Given the description of an element on the screen output the (x, y) to click on. 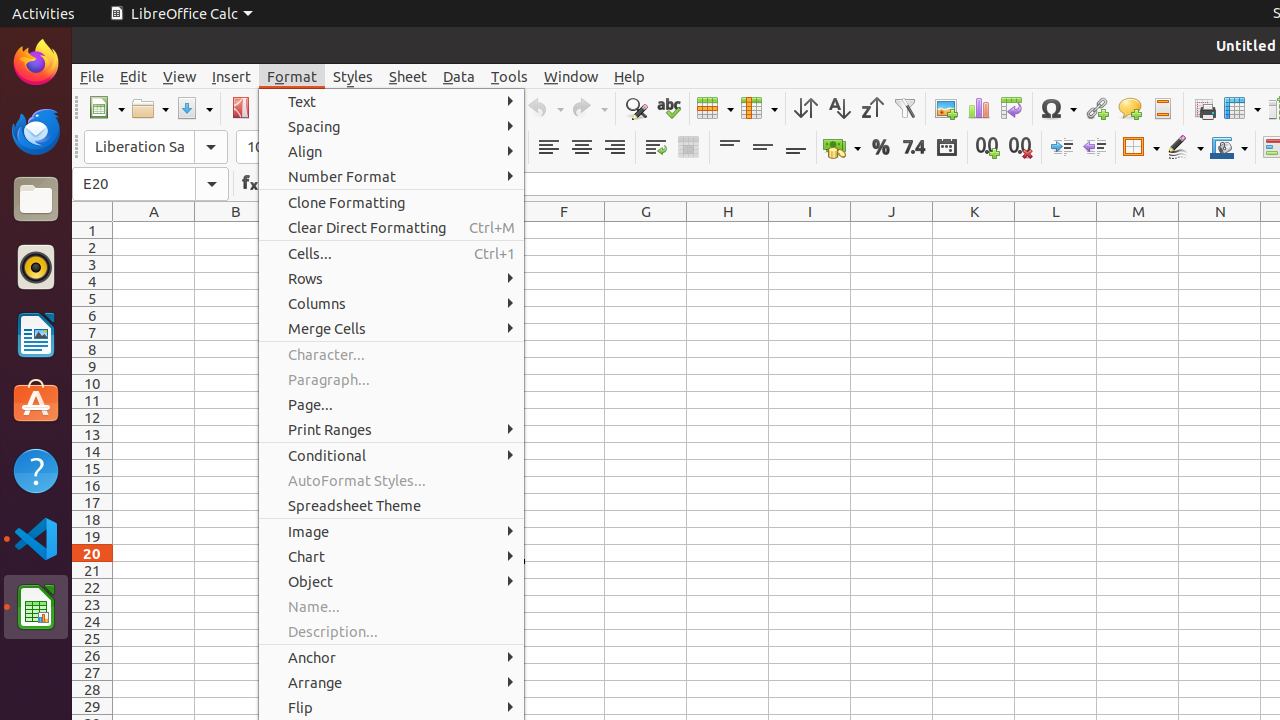
Row Element type: push-button (715, 108)
LibreOffice Writer Element type: push-button (36, 334)
Window Element type: menu (571, 76)
Open Element type: push-button (150, 108)
Thunderbird Mail Element type: push-button (36, 131)
